Given the description of an element on the screen output the (x, y) to click on. 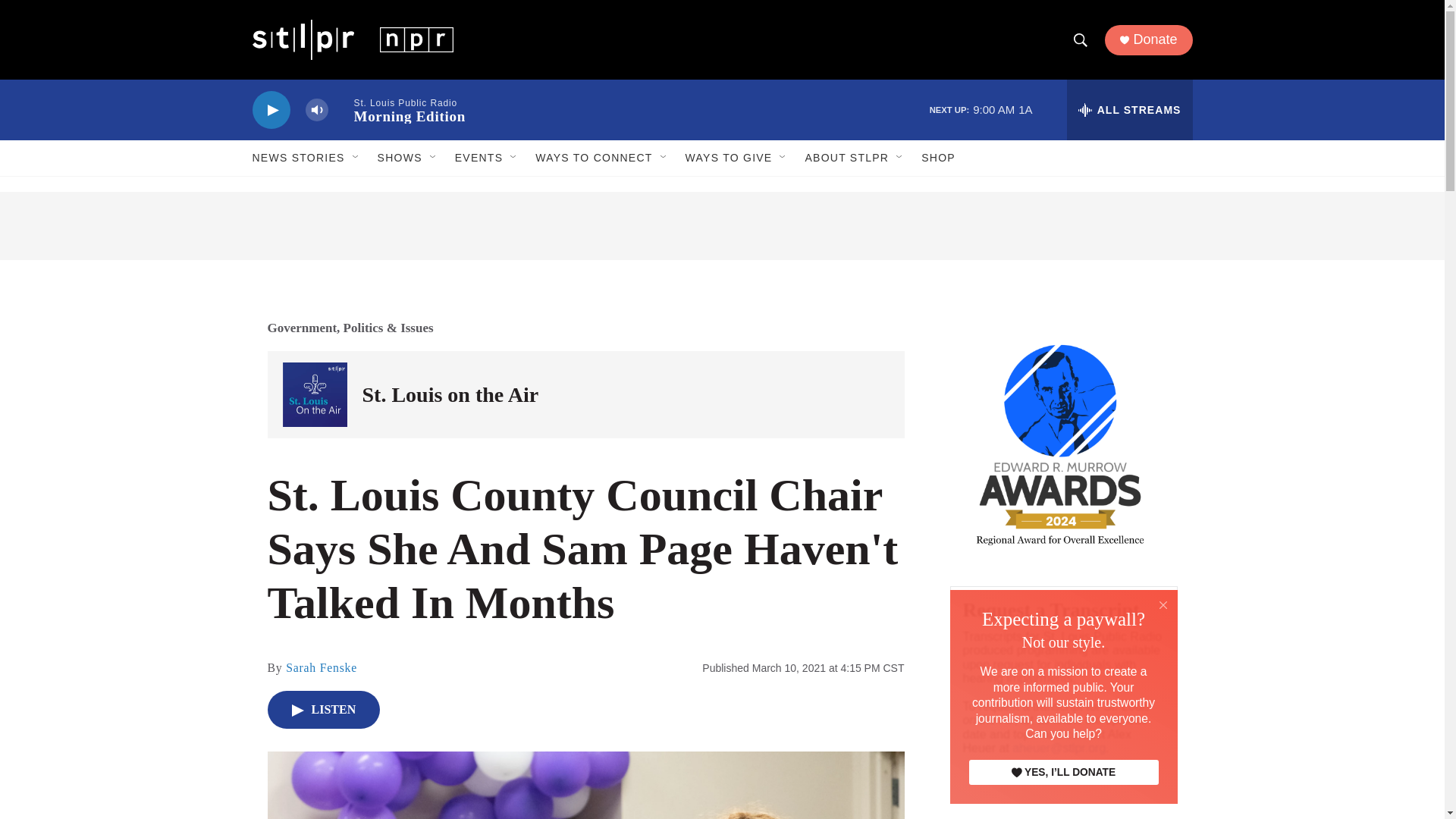
3rd party ad content (1093, 724)
3rd party ad content (721, 225)
Close (1162, 604)
Close (1162, 605)
